Given the description of an element on the screen output the (x, y) to click on. 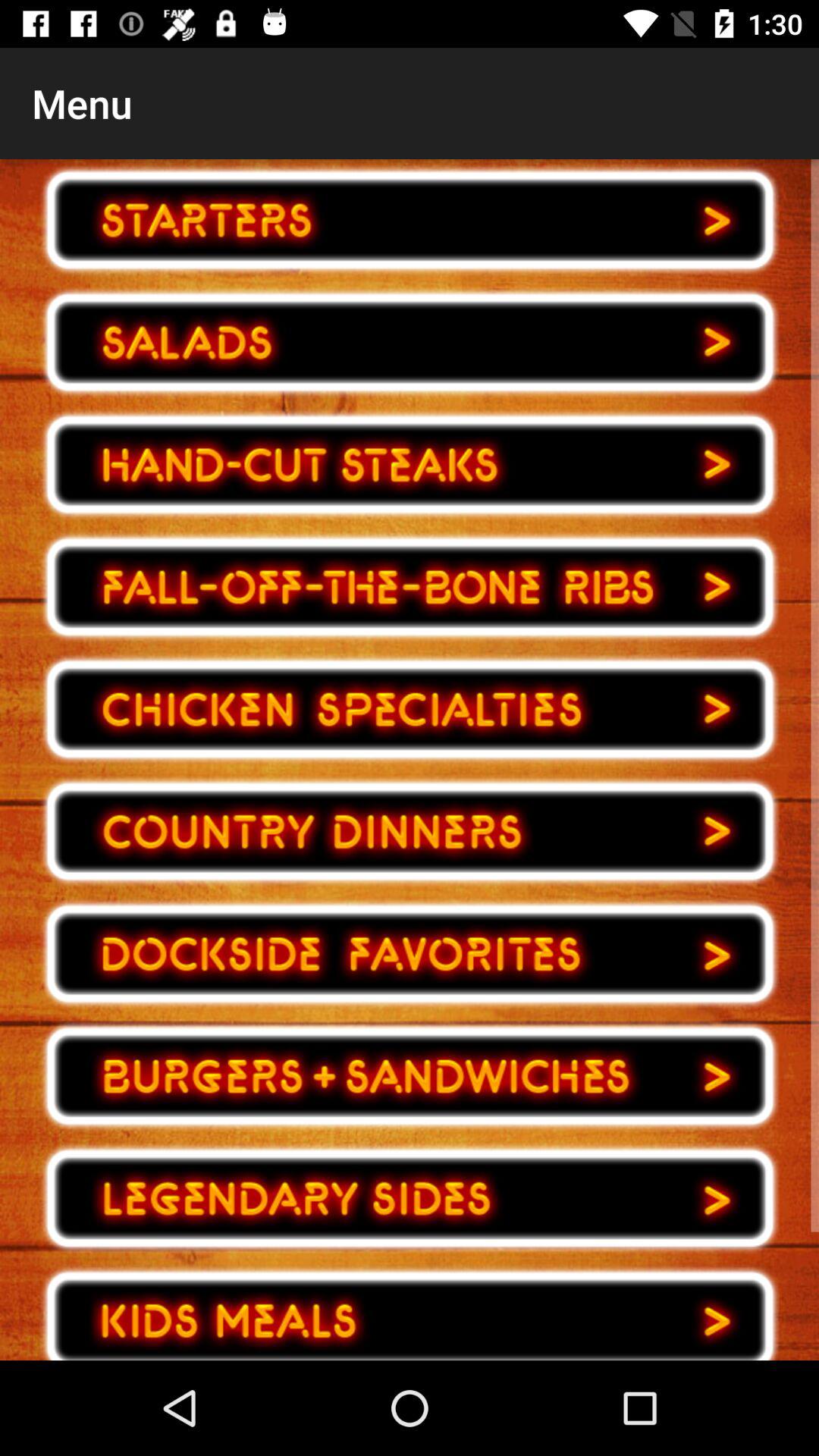
go to starters box (409, 220)
